Given the description of an element on the screen output the (x, y) to click on. 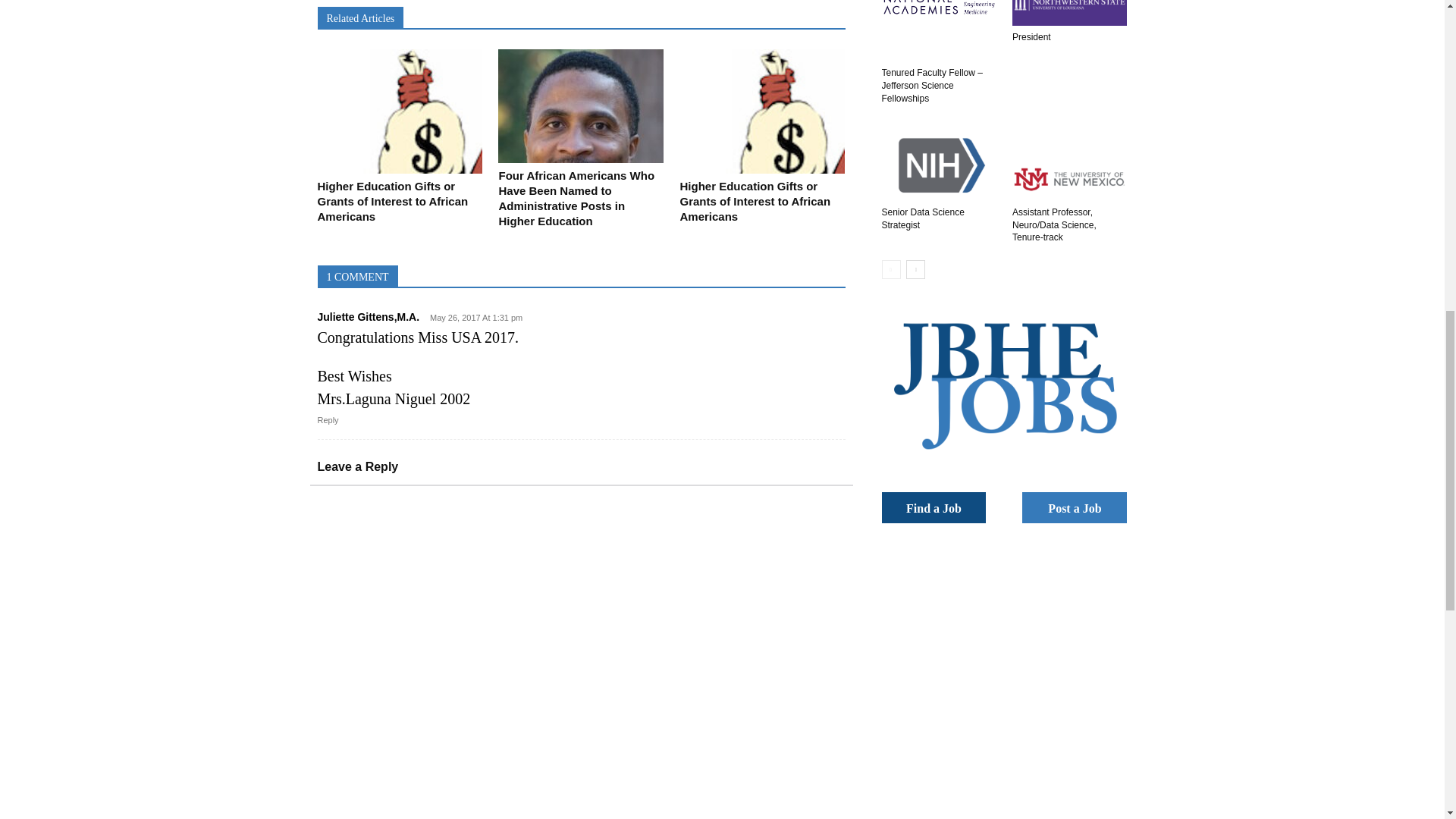
May 26, 2017 At 1:31 pm (472, 317)
